Given the description of an element on the screen output the (x, y) to click on. 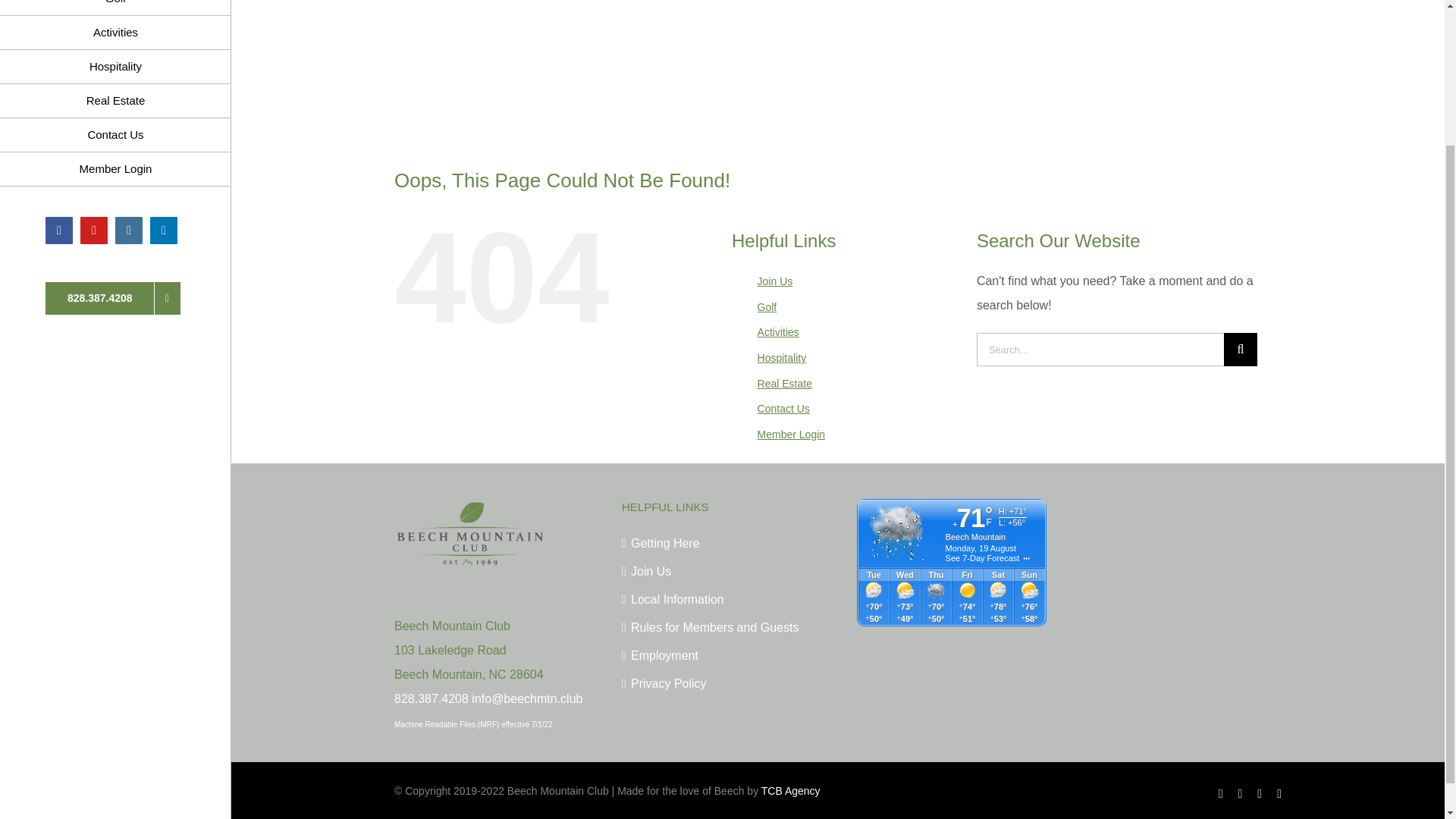
Hospitality (115, 66)
Golf (115, 7)
Facebook (58, 230)
Instagram (128, 230)
Activities (115, 32)
Contact Us (115, 134)
YouTube (93, 230)
LinkedIn (163, 230)
Real Estate (115, 100)
Member Login (115, 169)
